Given the description of an element on the screen output the (x, y) to click on. 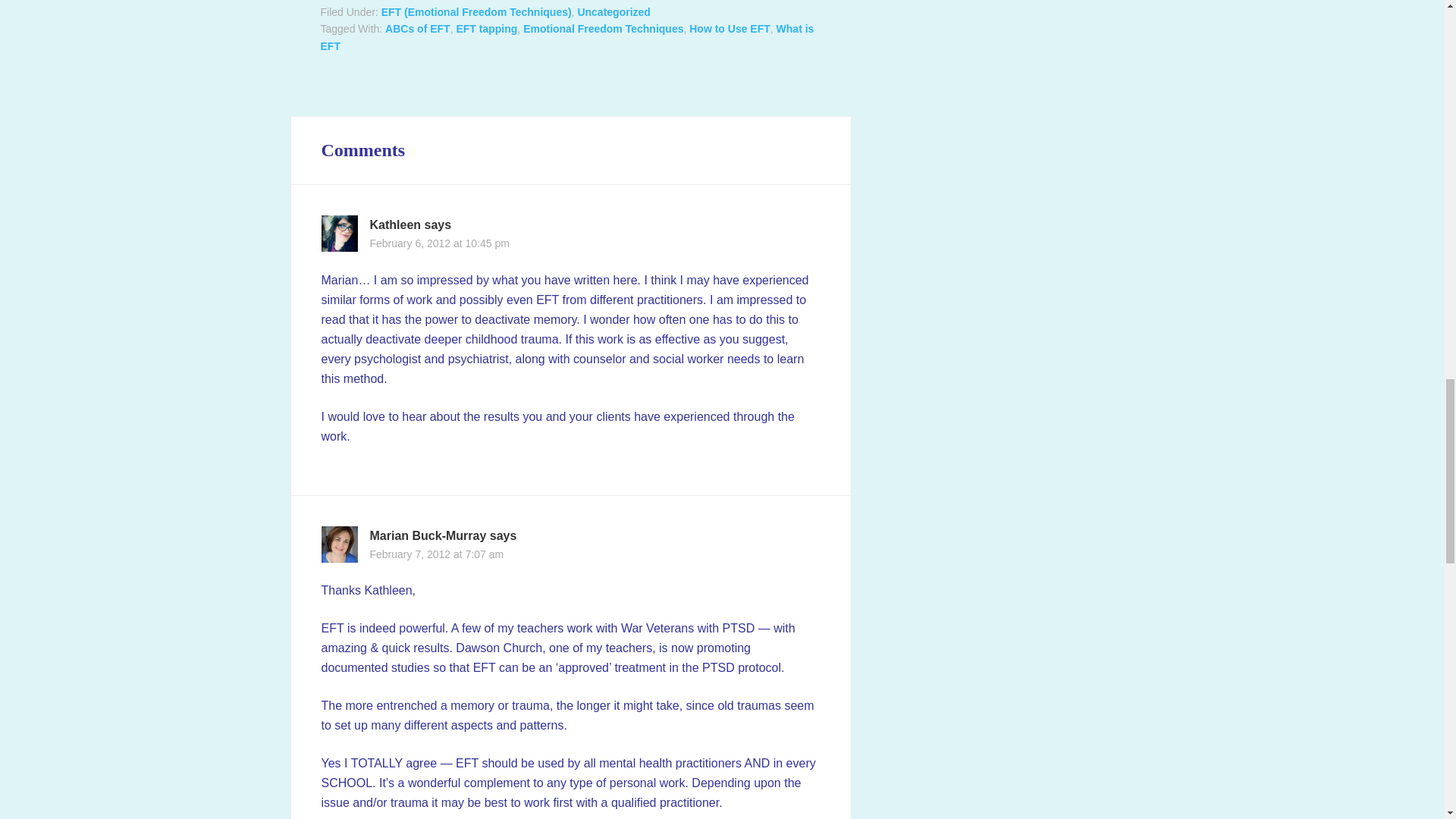
Emotional Freedom Techniques (602, 28)
EFT tapping (485, 28)
ABCs of EFT (417, 28)
February 7, 2012 at 7:07 am (436, 553)
How to Use EFT (729, 28)
February 6, 2012 at 10:45 pm (439, 243)
Uncategorized (612, 11)
What is EFT (566, 37)
Kathleen (395, 224)
